Given the description of an element on the screen output the (x, y) to click on. 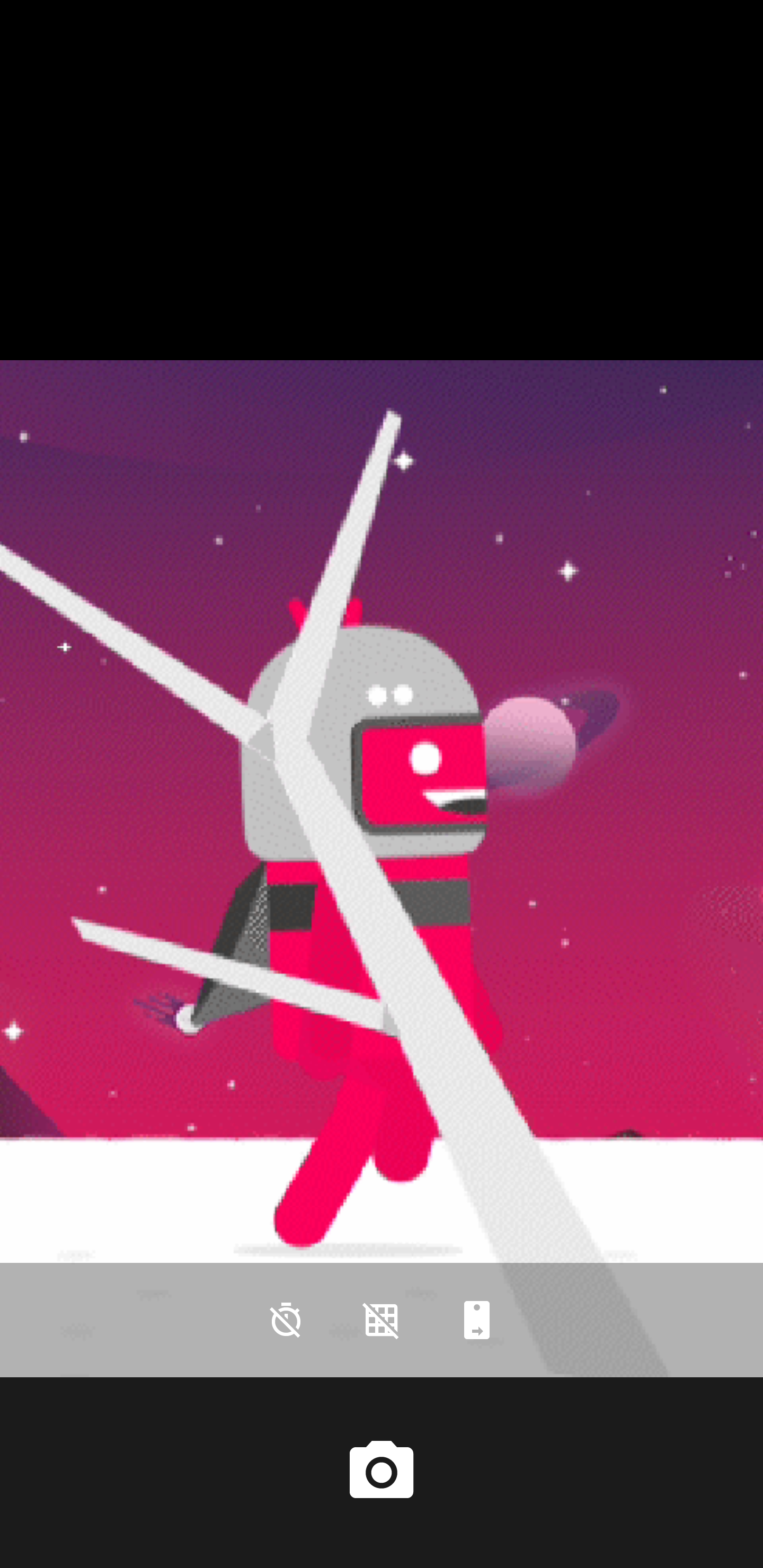
Countdown timer is off (285, 1319)
Grid lines off (381, 1319)
Back camera (476, 1319)
Shutter (381, 1472)
